Given the description of an element on the screen output the (x, y) to click on. 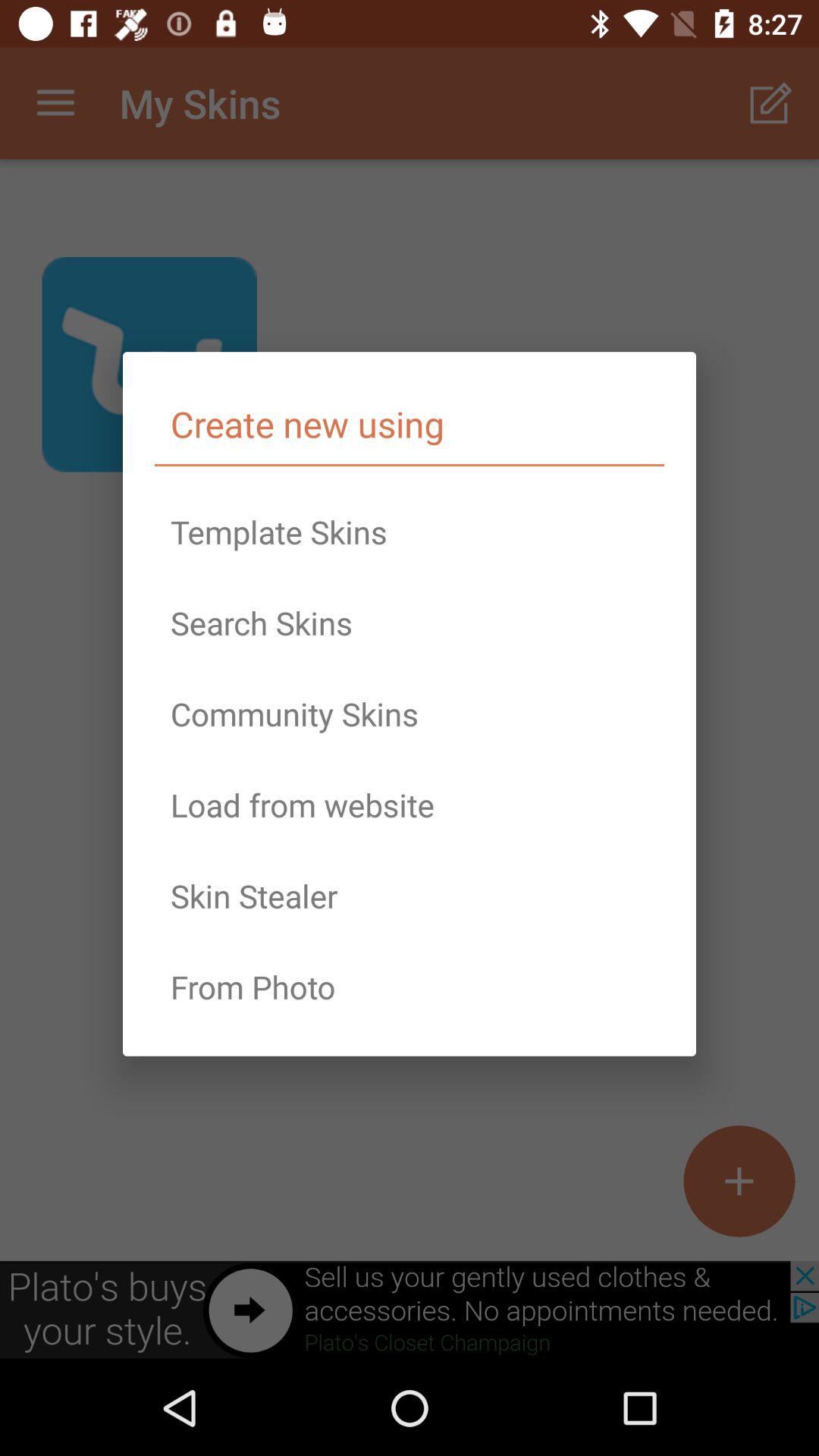
tap icon below the template skins icon (409, 622)
